Given the description of an element on the screen output the (x, y) to click on. 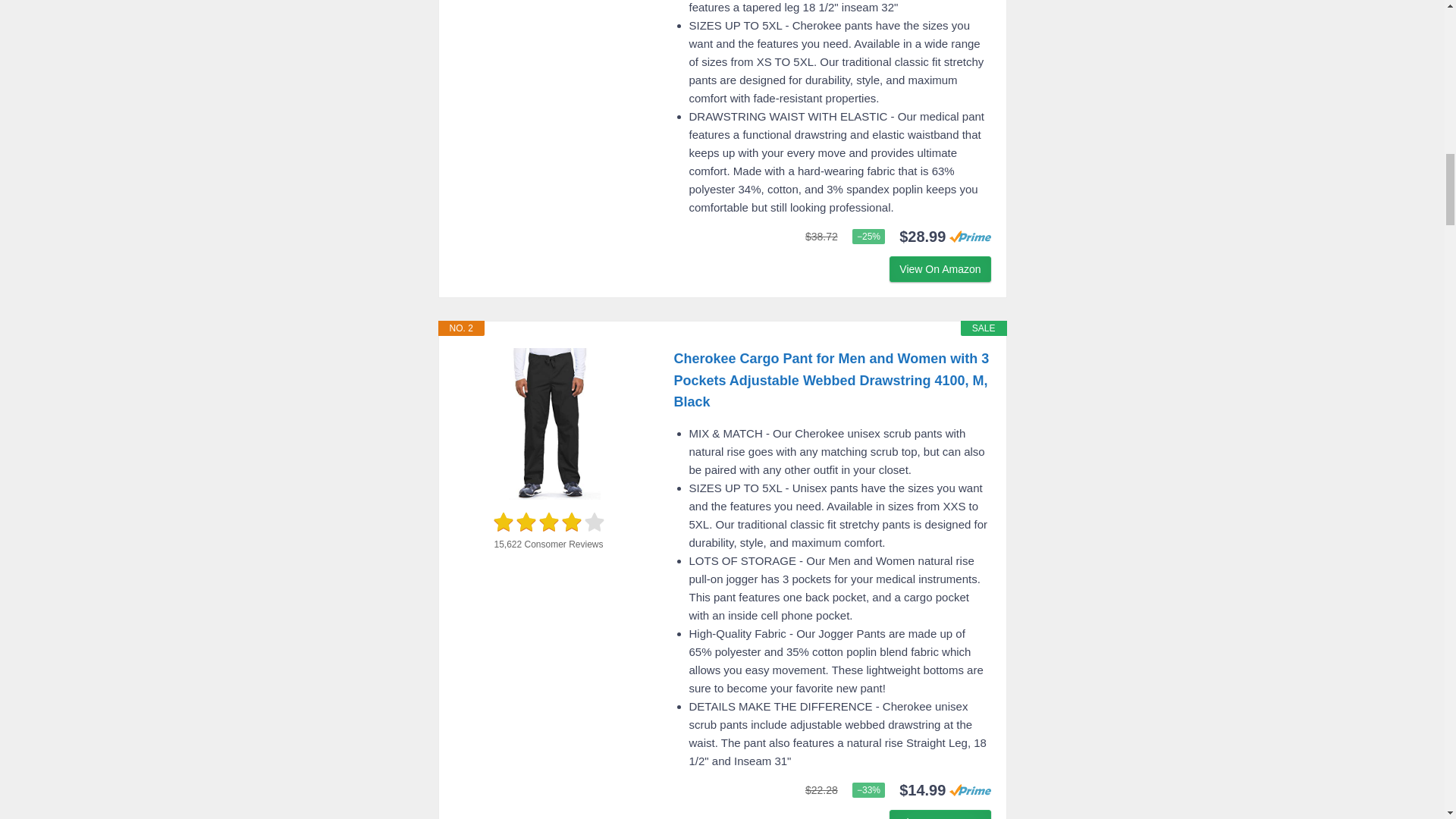
View On Amazon (939, 814)
View On Amazon (939, 268)
